Given the description of an element on the screen output the (x, y) to click on. 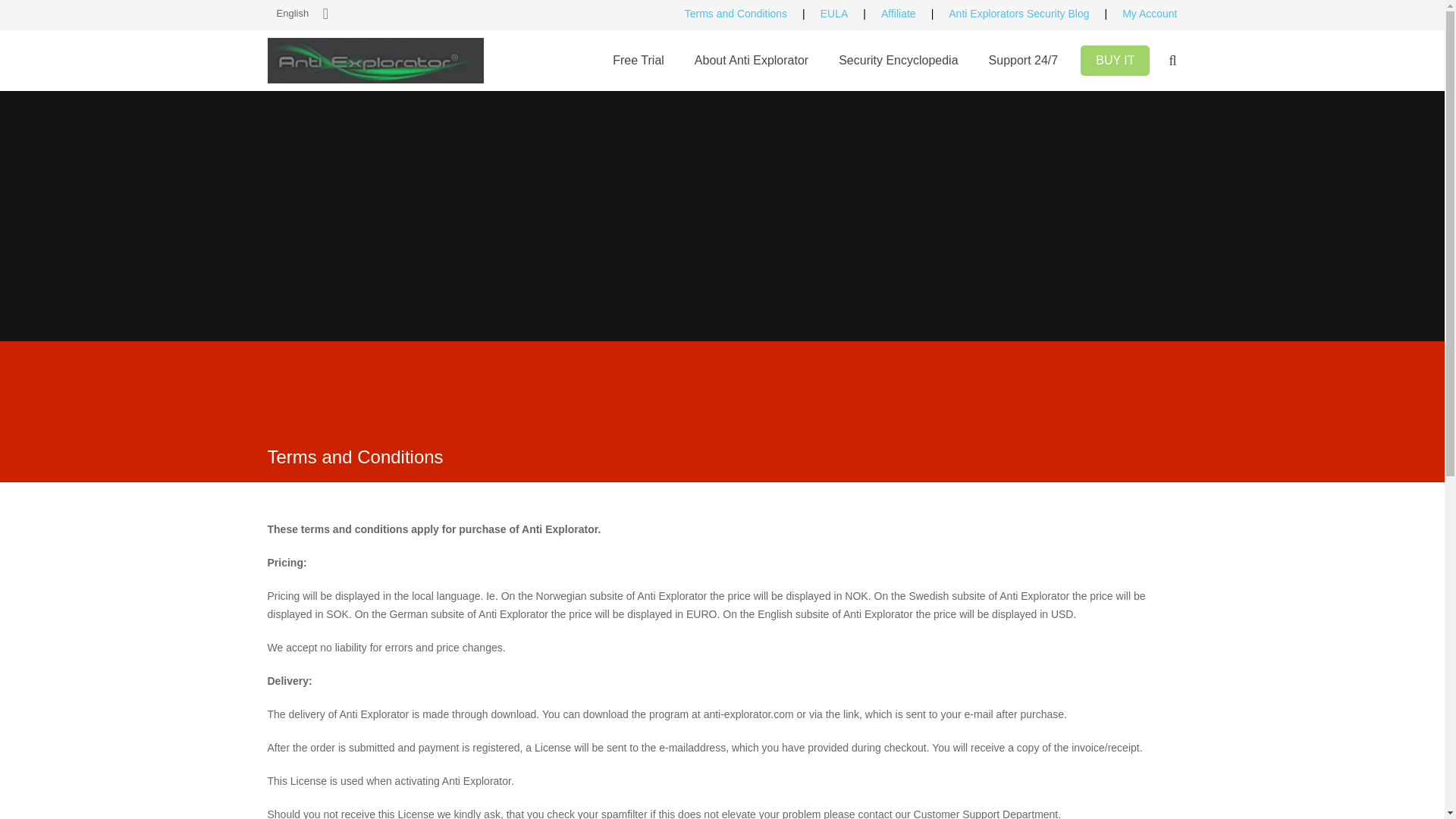
EULA (824, 13)
Security Encyclopedia (898, 60)
Anti Explorators Security Blog (1010, 13)
Terms and Conditions (735, 13)
BUY IT (1115, 60)
Affiliate (889, 13)
About Anti Explorator (751, 60)
Free Trial (637, 60)
My Account (1139, 13)
